Given the description of an element on the screen output the (x, y) to click on. 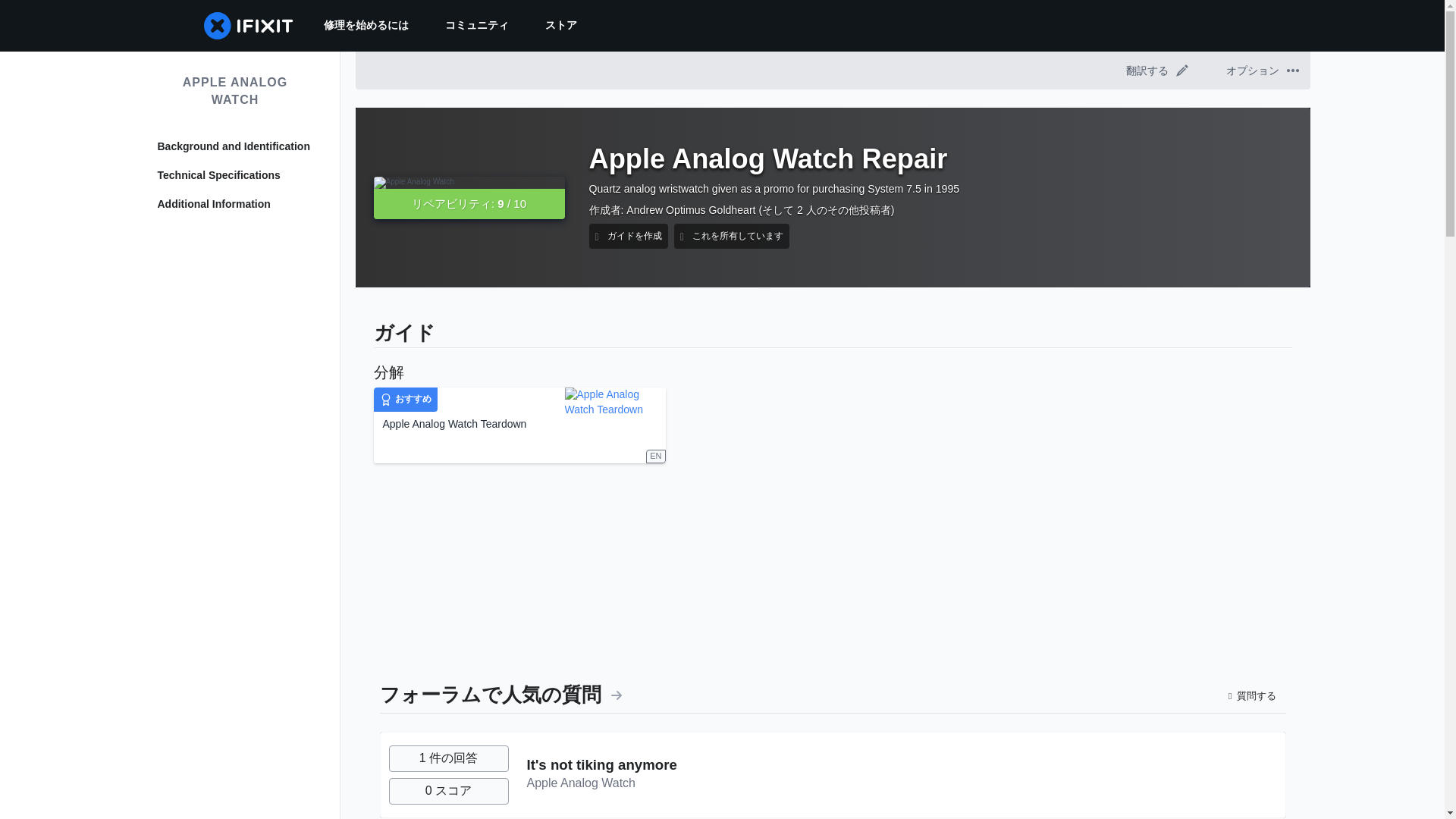
Additional Information (235, 204)
Background and Identification (235, 146)
It's not tiking anymore (601, 764)
It's not tiking anymore (601, 764)
Andrew Optimus Goldheart (690, 209)
Technical Specifications (235, 175)
APPLE ANALOG WATCH (234, 91)
Apple Analog Watch (579, 782)
